Given the description of an element on the screen output the (x, y) to click on. 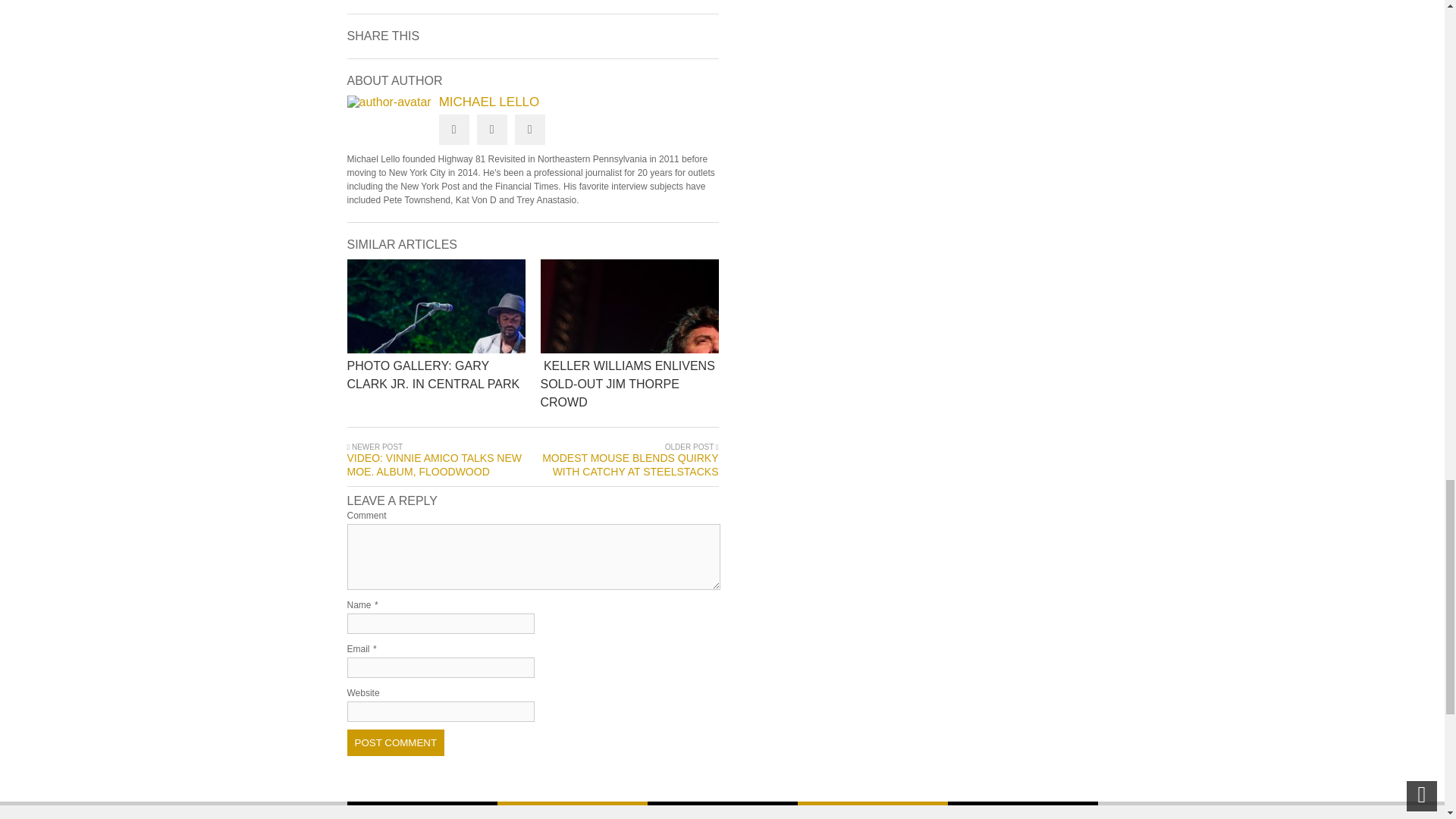
Click to read (436, 305)
Posted byMichael Lello  (388, 101)
PHOTO GALLERY: GARY CLARK JR. IN CENTRAL PARK (536, 385)
Google Plus (529, 129)
Twitter (453, 129)
Posted by Michael Lello (533, 101)
Post Comment (396, 742)
Facebook (491, 129)
